Given the description of an element on the screen output the (x, y) to click on. 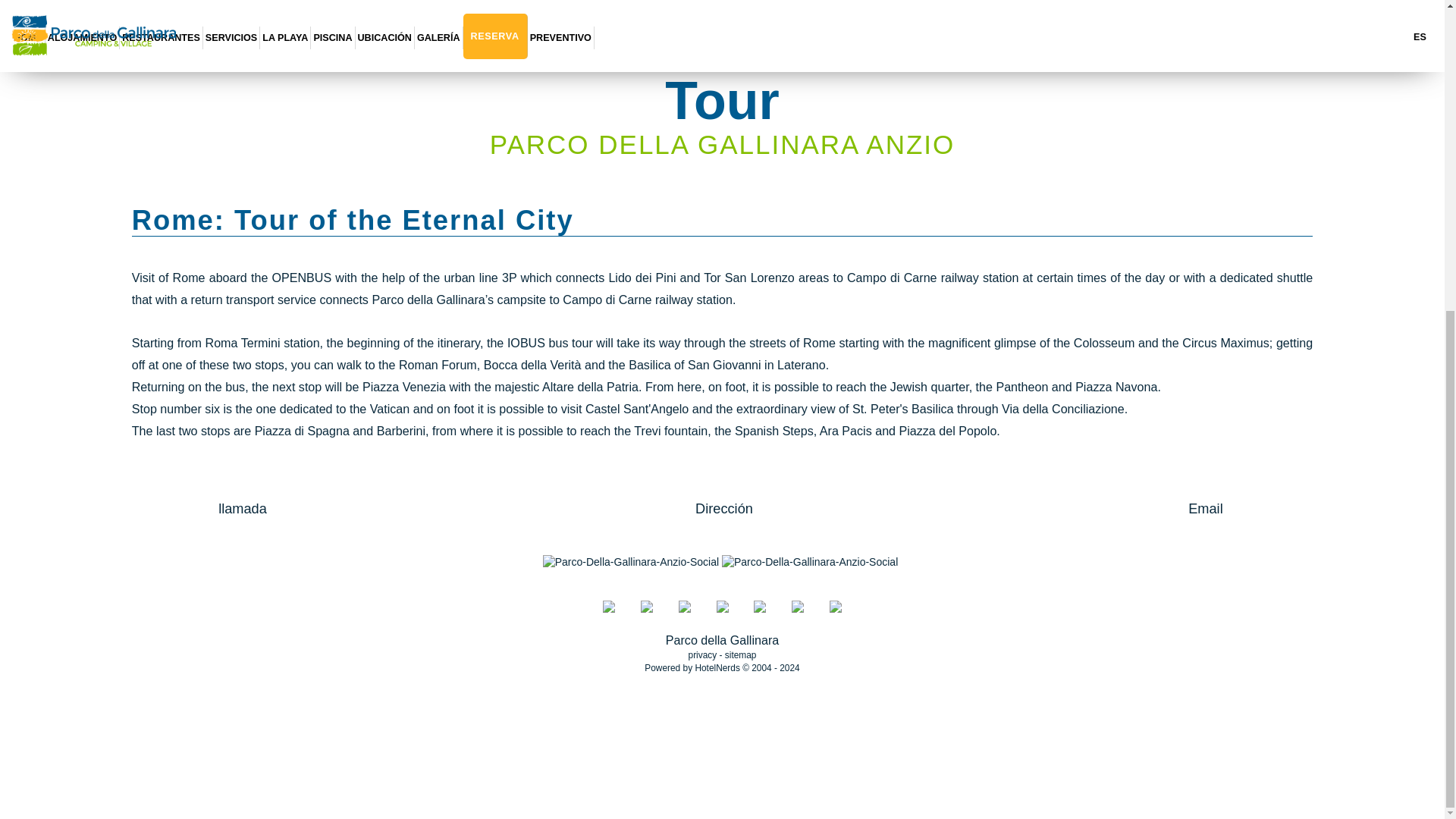
privacy (702, 655)
sitemap (741, 655)
Parco-Della-Gallinara-Anzio-Social (631, 562)
Parco della Gallinara (721, 640)
